Given the description of an element on the screen output the (x, y) to click on. 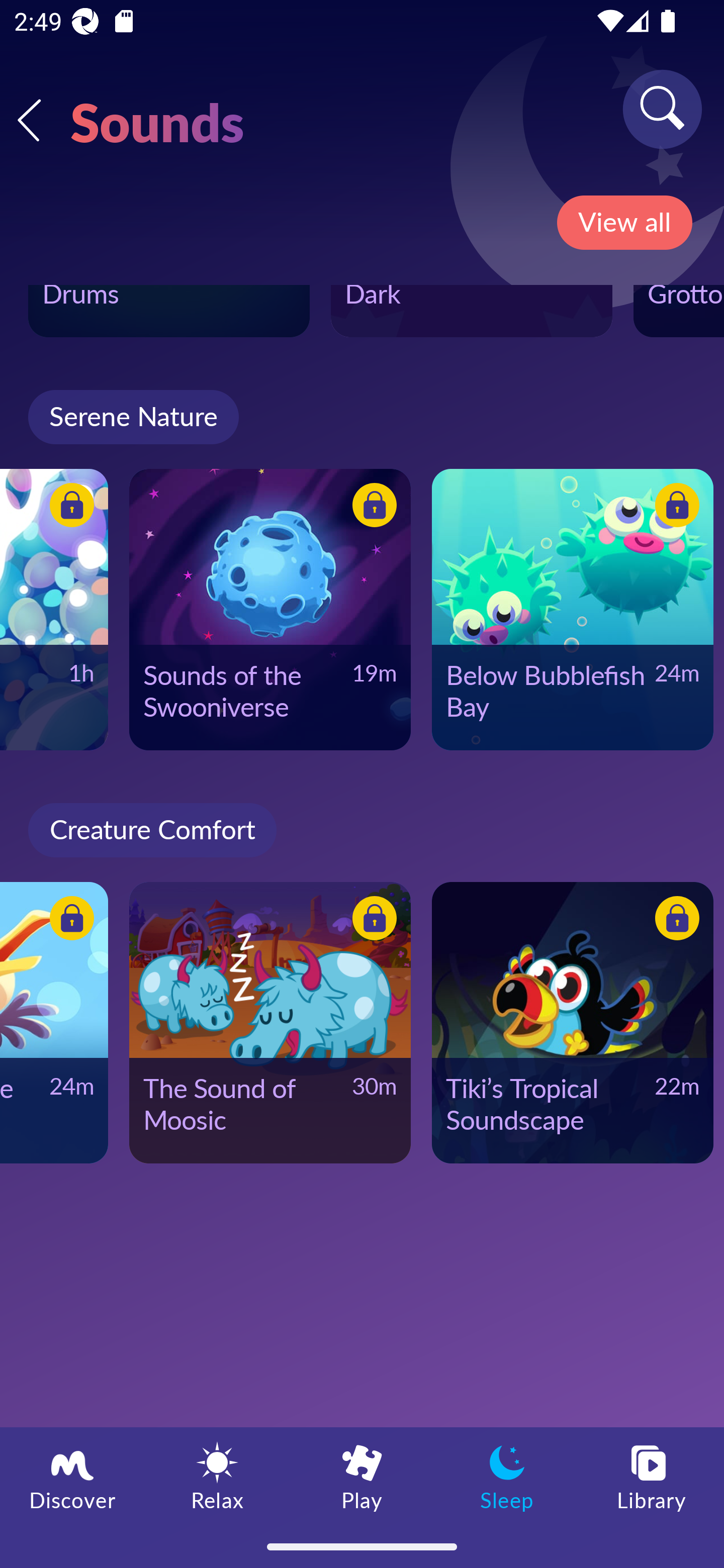
View all (624, 222)
Featured Content Button Oobla Doobla Drums 20m (168, 311)
Featured Content Button Jollywood After Dark 15m (471, 311)
Button (68, 507)
Button (371, 507)
Featured Content Button Below Bubblefish Bay 24m (572, 609)
Button (673, 507)
Button (68, 920)
Featured Content Button The Sound of Moosic 30m (269, 1022)
Button (371, 920)
Button (673, 920)
Discover (72, 1475)
Relax (216, 1475)
Play (361, 1475)
Library (651, 1475)
